Given the description of an element on the screen output the (x, y) to click on. 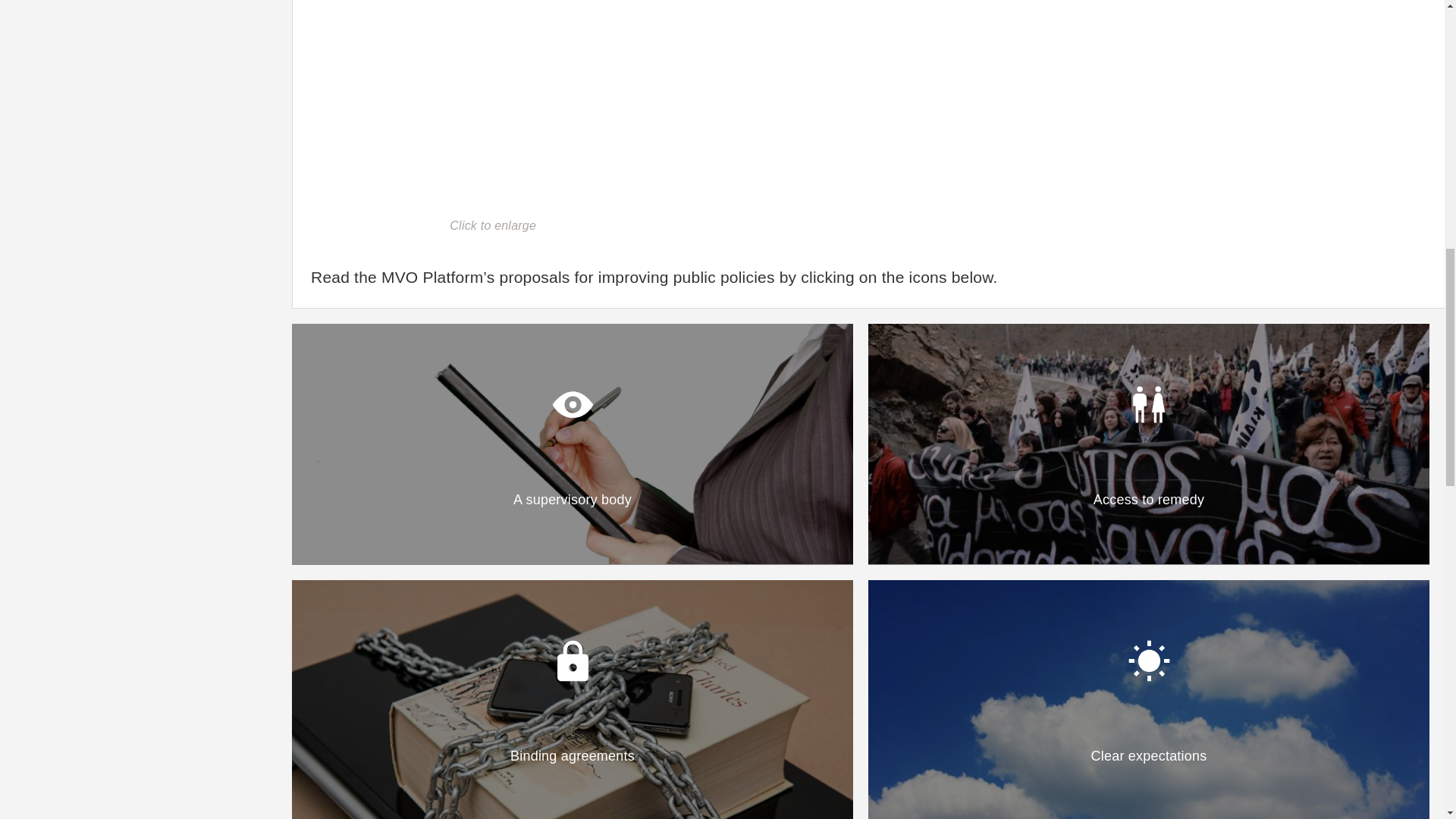
Binding agreements (572, 699)
